Given the description of an element on the screen output the (x, y) to click on. 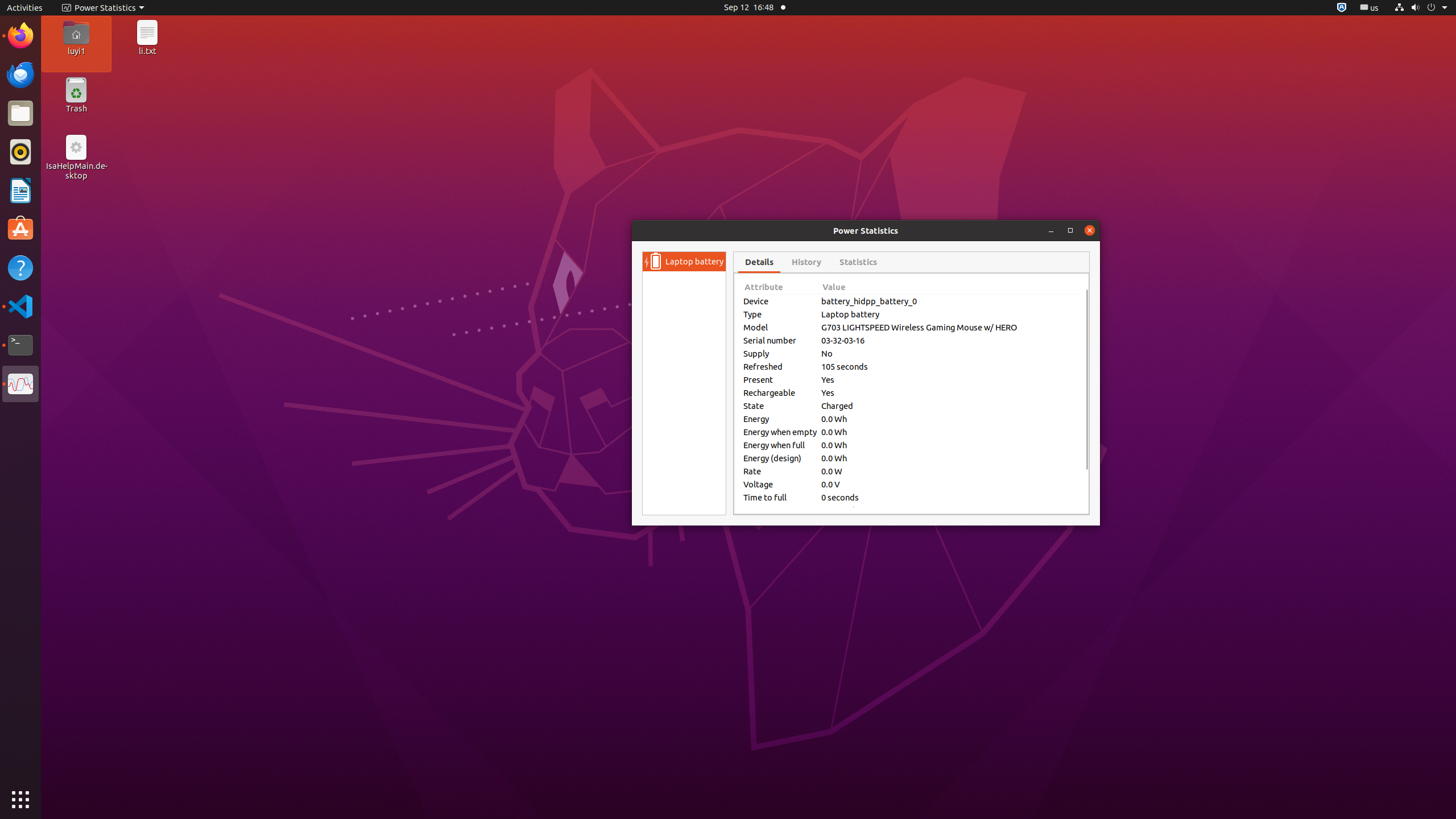
Device Element type: table-cell (779, 301)
Voltage Element type: table-cell (779, 484)
Trash Element type: label (75, 108)
